Given the description of an element on the screen output the (x, y) to click on. 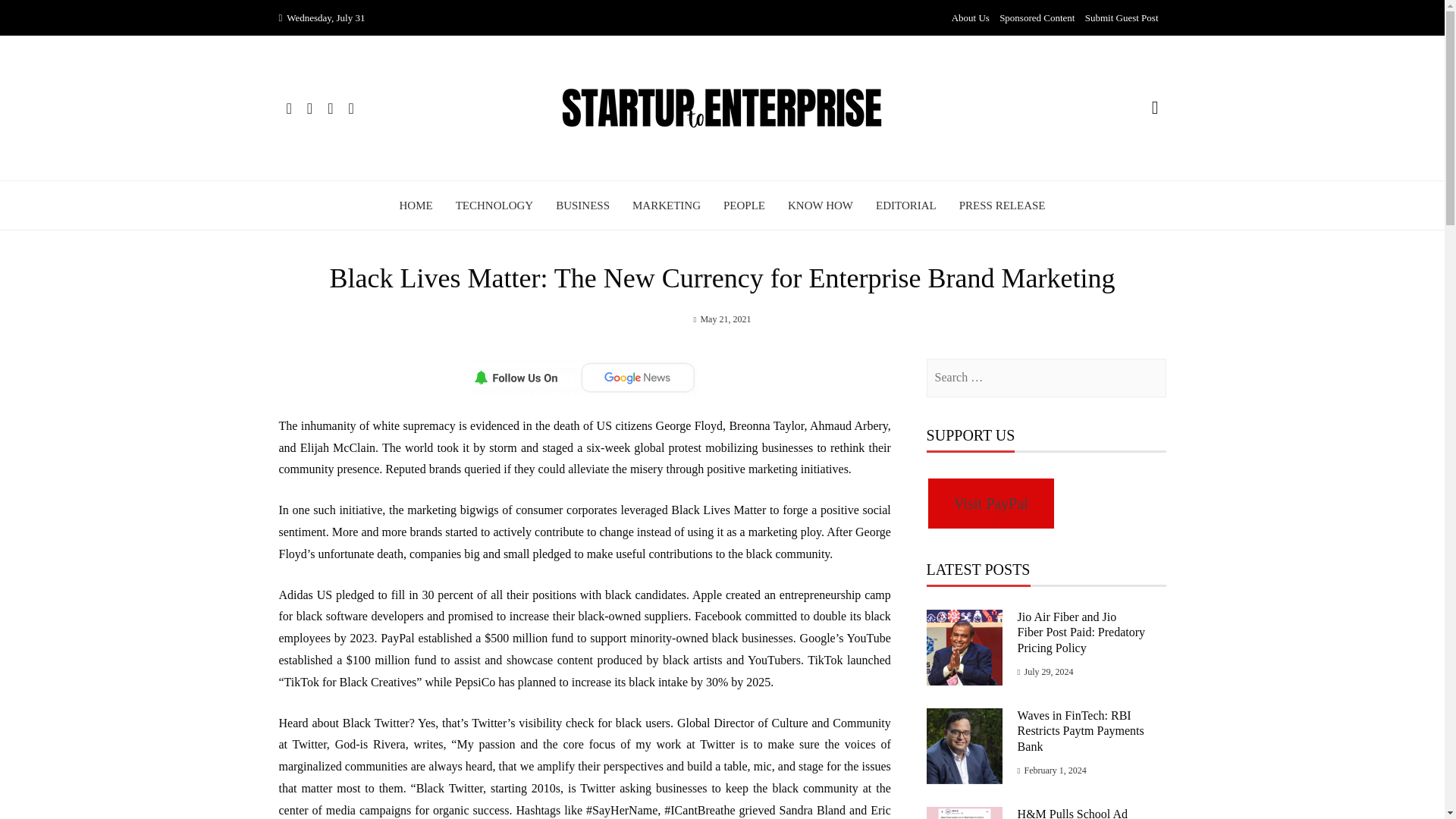
KNOW HOW (820, 205)
Sponsored Content (1036, 17)
About Us (971, 17)
BUSINESS (583, 205)
TECHNOLOGY (494, 205)
Black Lives Matter (718, 509)
PEOPLE (744, 205)
Submit Guest Post (1121, 17)
PRESS RELEASE (1002, 205)
HOME (415, 205)
God-is Rivera (370, 744)
MARKETING (665, 205)
EDITORIAL (906, 205)
